Given the description of an element on the screen output the (x, y) to click on. 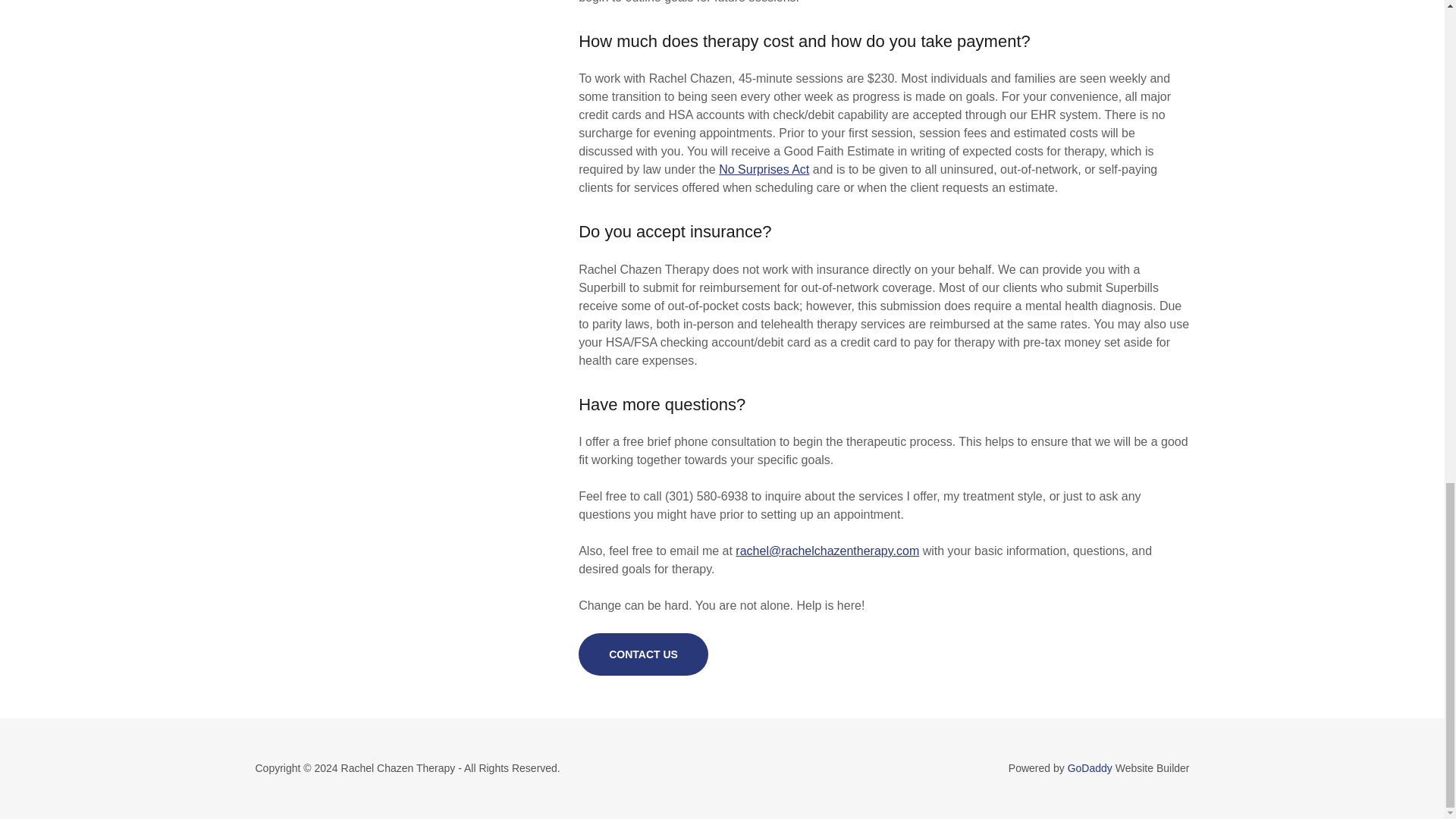
No Surprises Act (764, 169)
GoDaddy (1089, 767)
CONTACT US (642, 654)
